Given the description of an element on the screen output the (x, y) to click on. 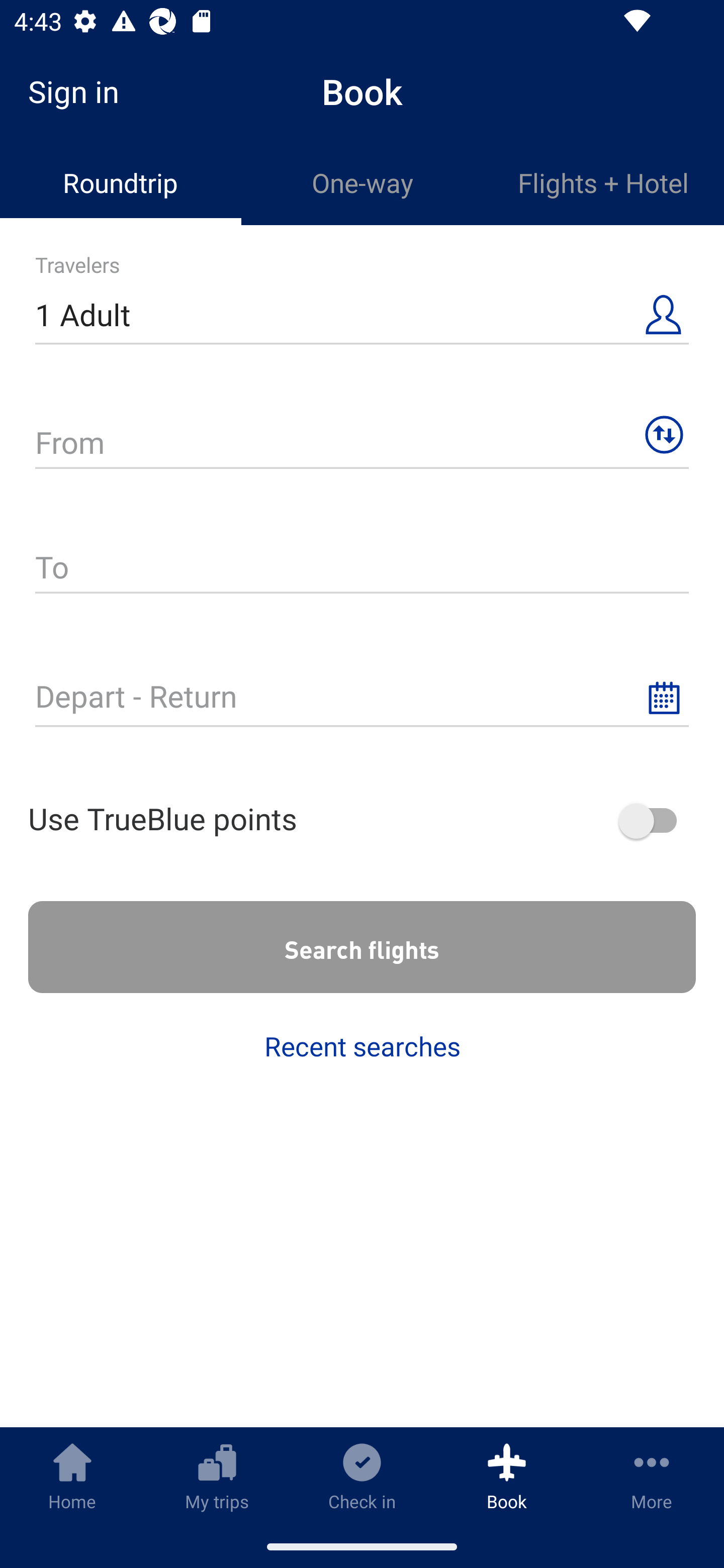
Sign in (80, 91)
One-way (361, 183)
Flights + Hotel (603, 183)
Travelers 1 Adult (361, 306)
From (361, 433)
Swap origin and destination (663, 434)
To (361, 559)
To (361, 568)
Depart and return (361, 687)
Search flights (361, 946)
Recent searches (361, 1046)
Home (72, 1475)
My trips (216, 1475)
Check in (361, 1475)
More (651, 1475)
